Given the description of an element on the screen output the (x, y) to click on. 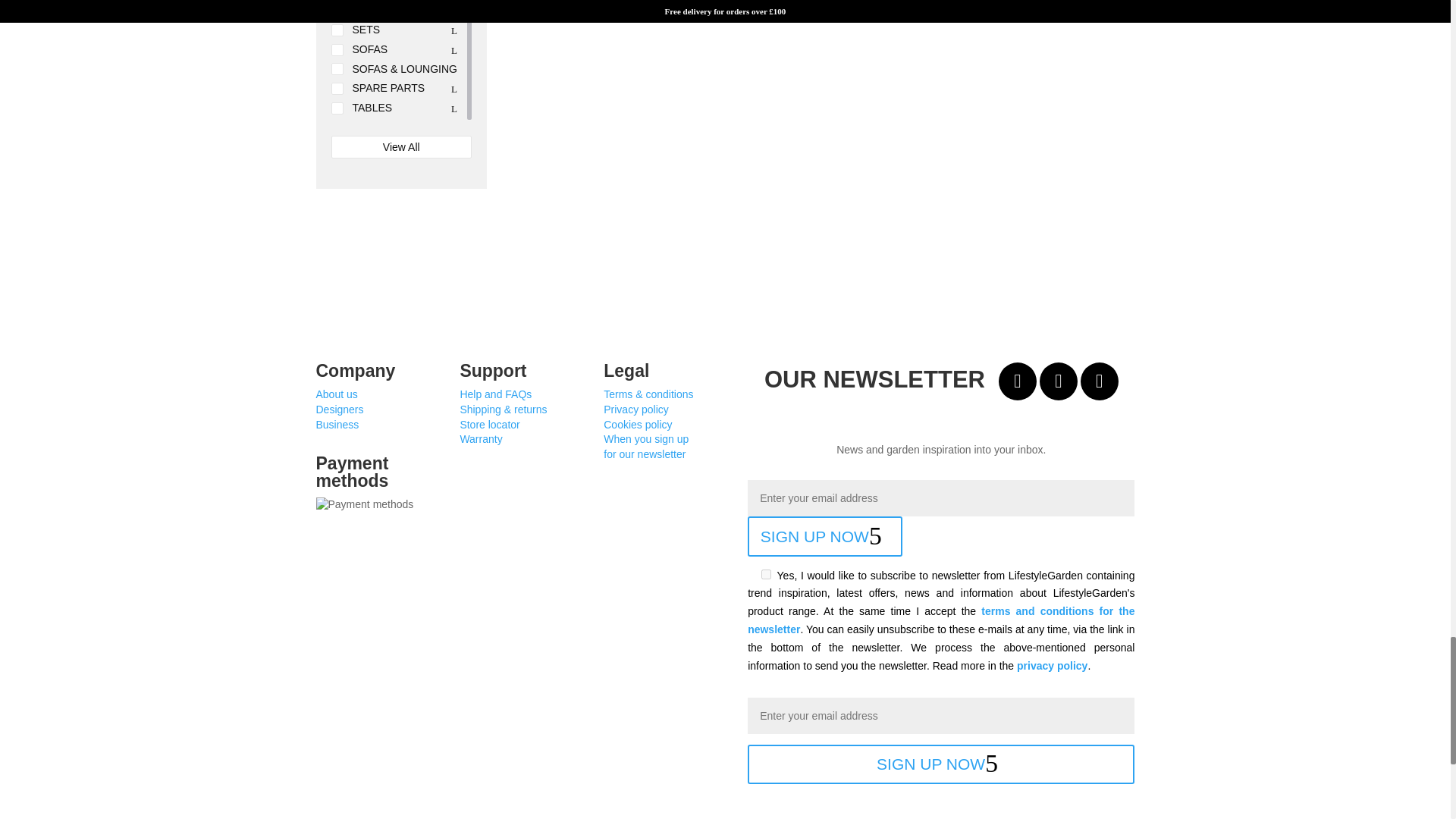
1 (766, 574)
